Given the description of an element on the screen output the (x, y) to click on. 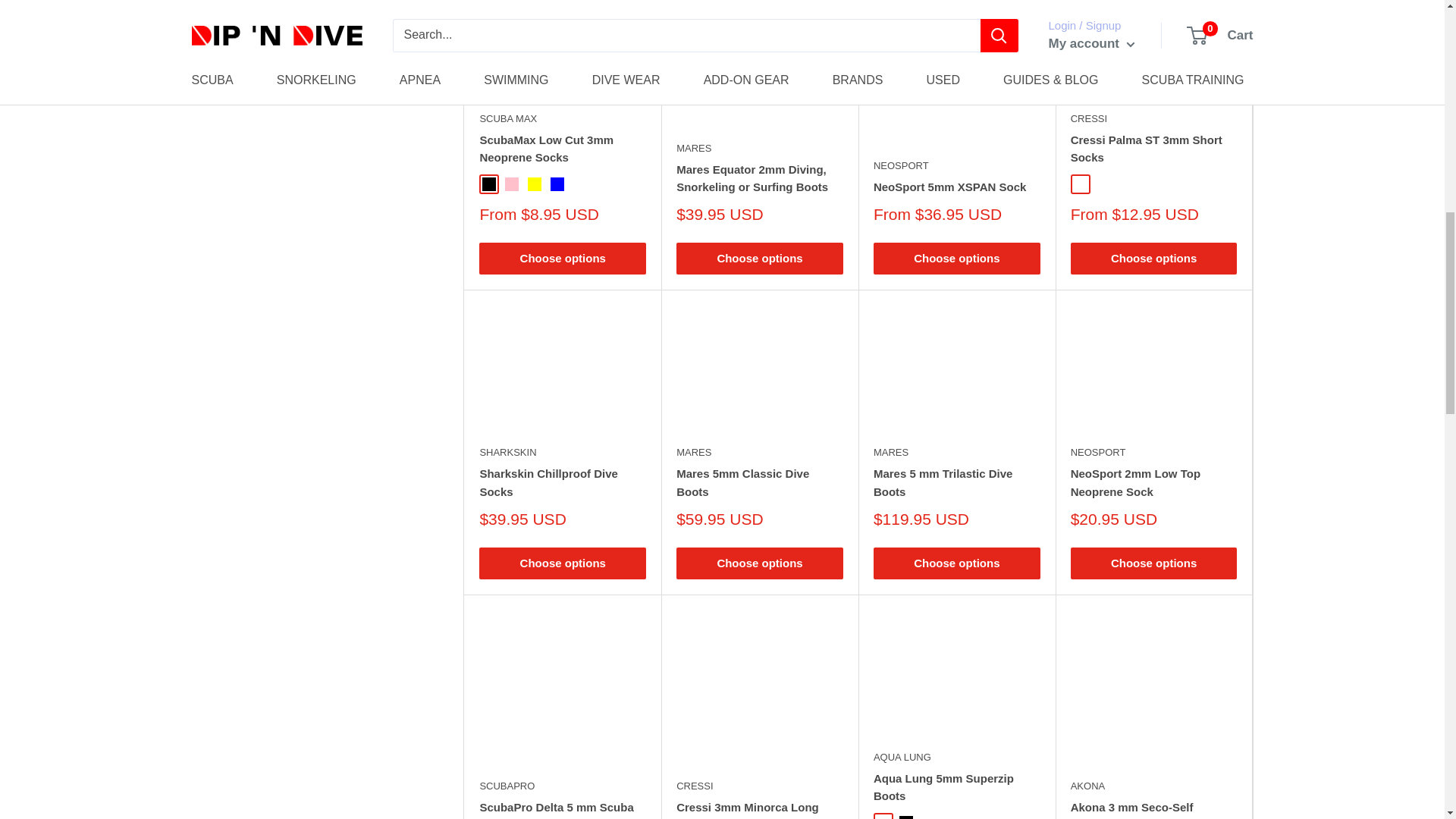
Pink (511, 183)
Black (488, 183)
